Given the description of an element on the screen output the (x, y) to click on. 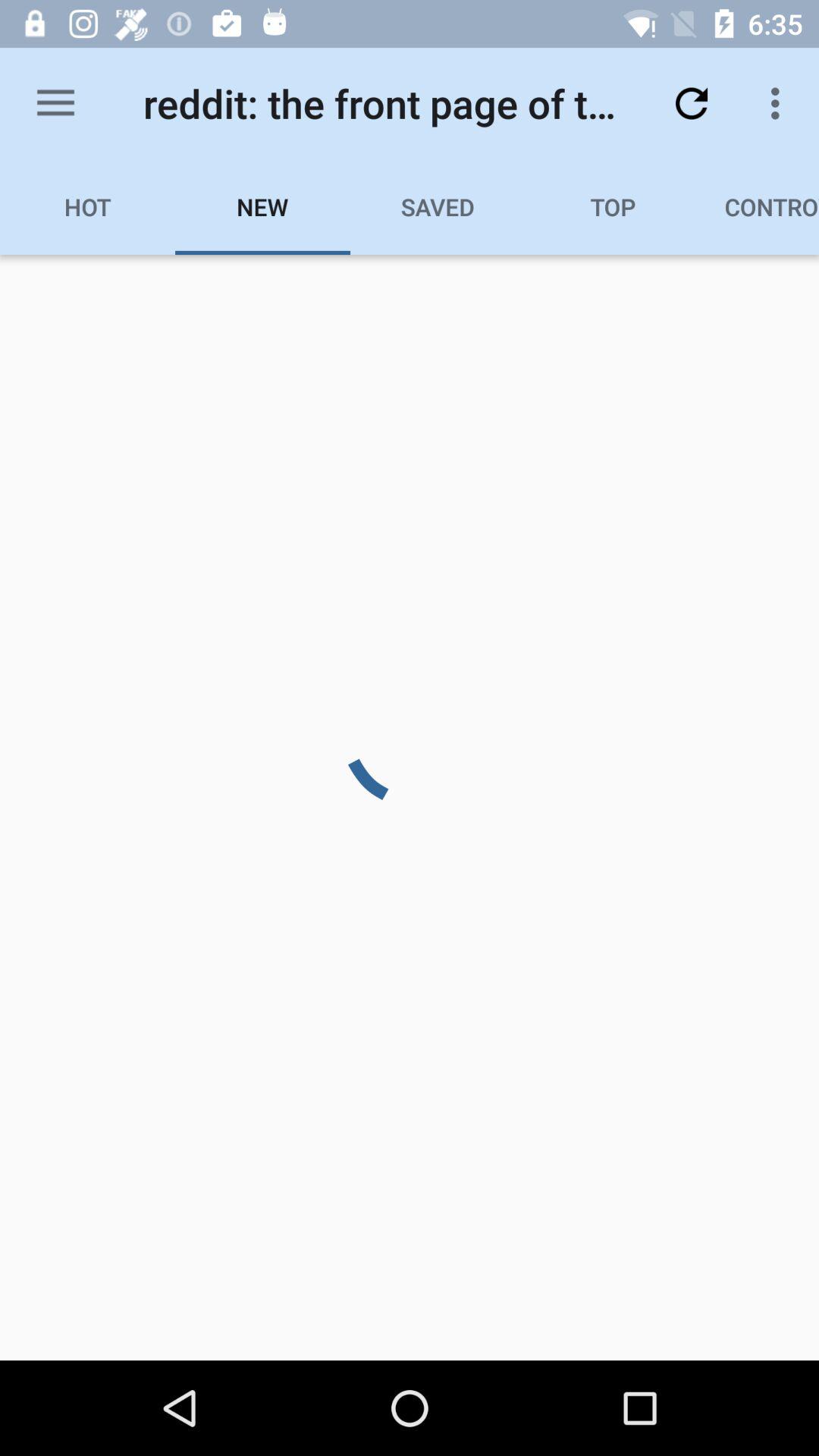
click the item next to the reddit the front (691, 103)
